Given the description of an element on the screen output the (x, y) to click on. 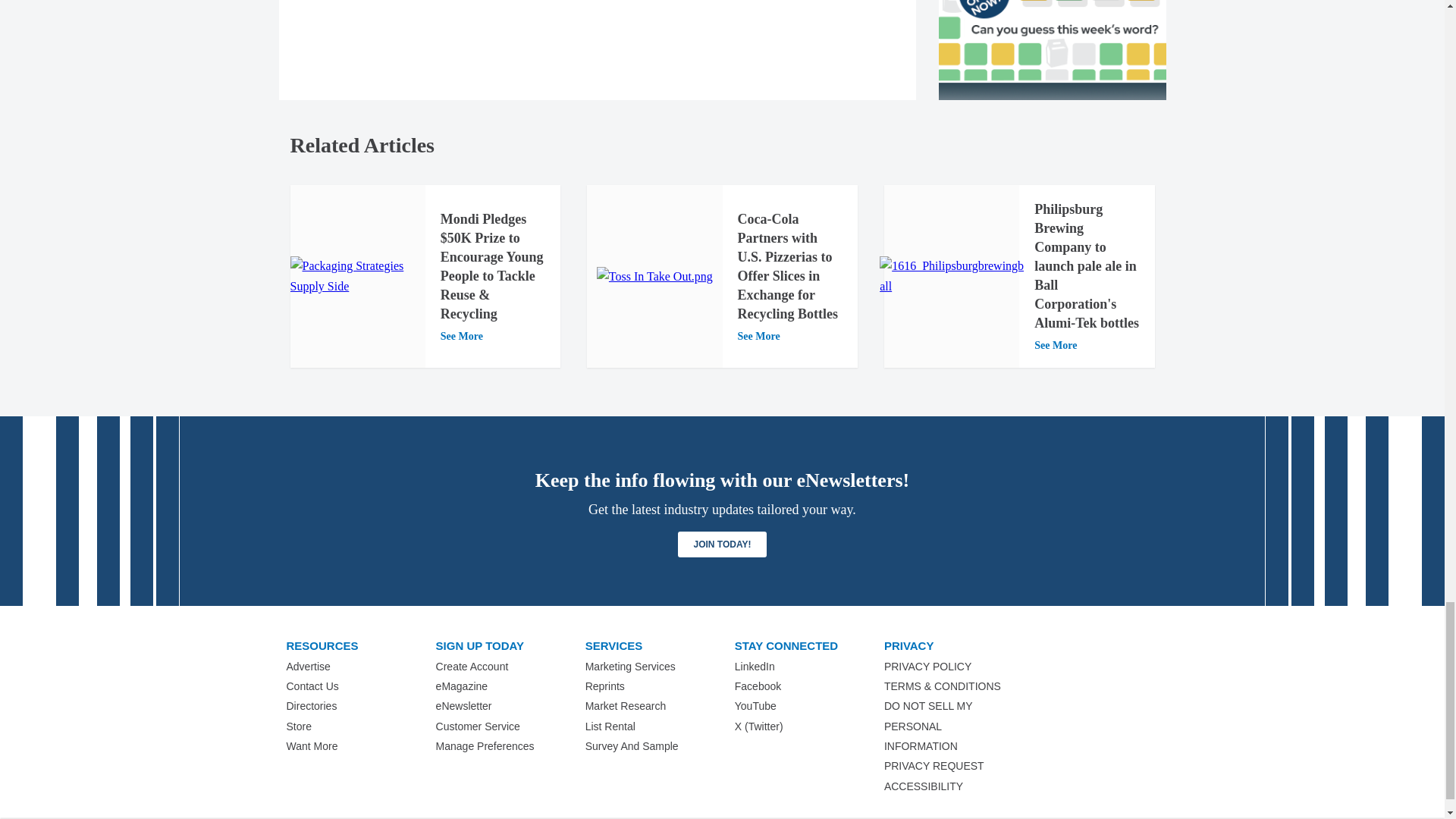
Supply Side (357, 276)
Toss In Take Out.png (654, 276)
